Given the description of an element on the screen output the (x, y) to click on. 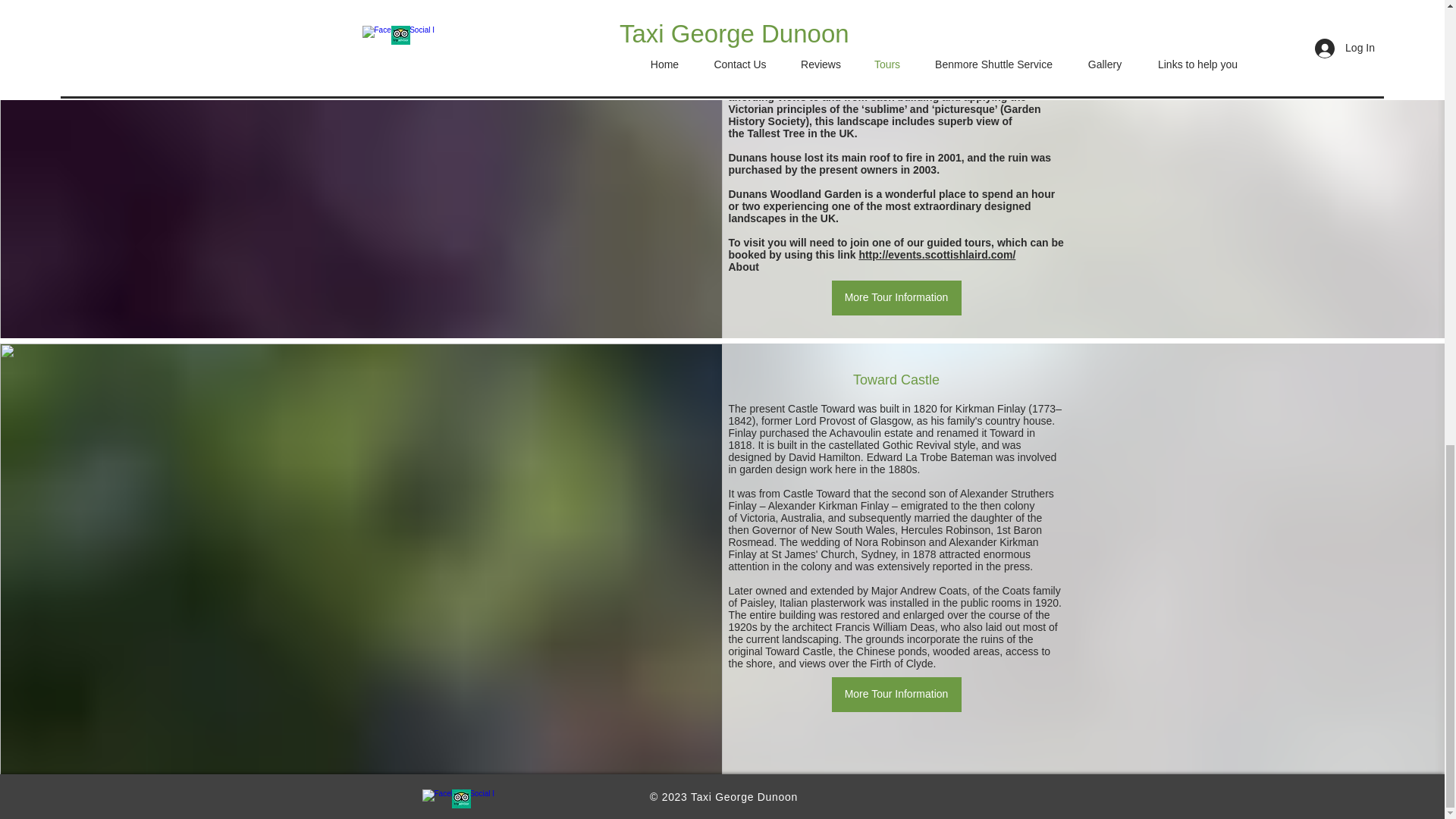
Hercules Robinson, 1st Baron Rosmead (884, 535)
Lord Provost of Glasgow (852, 420)
Francis William Deas (884, 626)
Victoria (756, 517)
More Tour Information (895, 694)
Kirkman Finlay (990, 408)
Gothic Revival (916, 444)
Paisley (756, 603)
David Hamilton (824, 457)
wedding of Nora Robinson and Alexander Kirkman Finlay (883, 548)
More Tour Information (895, 297)
Firth of Clyde (901, 663)
Edward La Trobe Bateman (929, 457)
Governor of New South Wales (823, 530)
St James' Church, Sydney (833, 553)
